Given the description of an element on the screen output the (x, y) to click on. 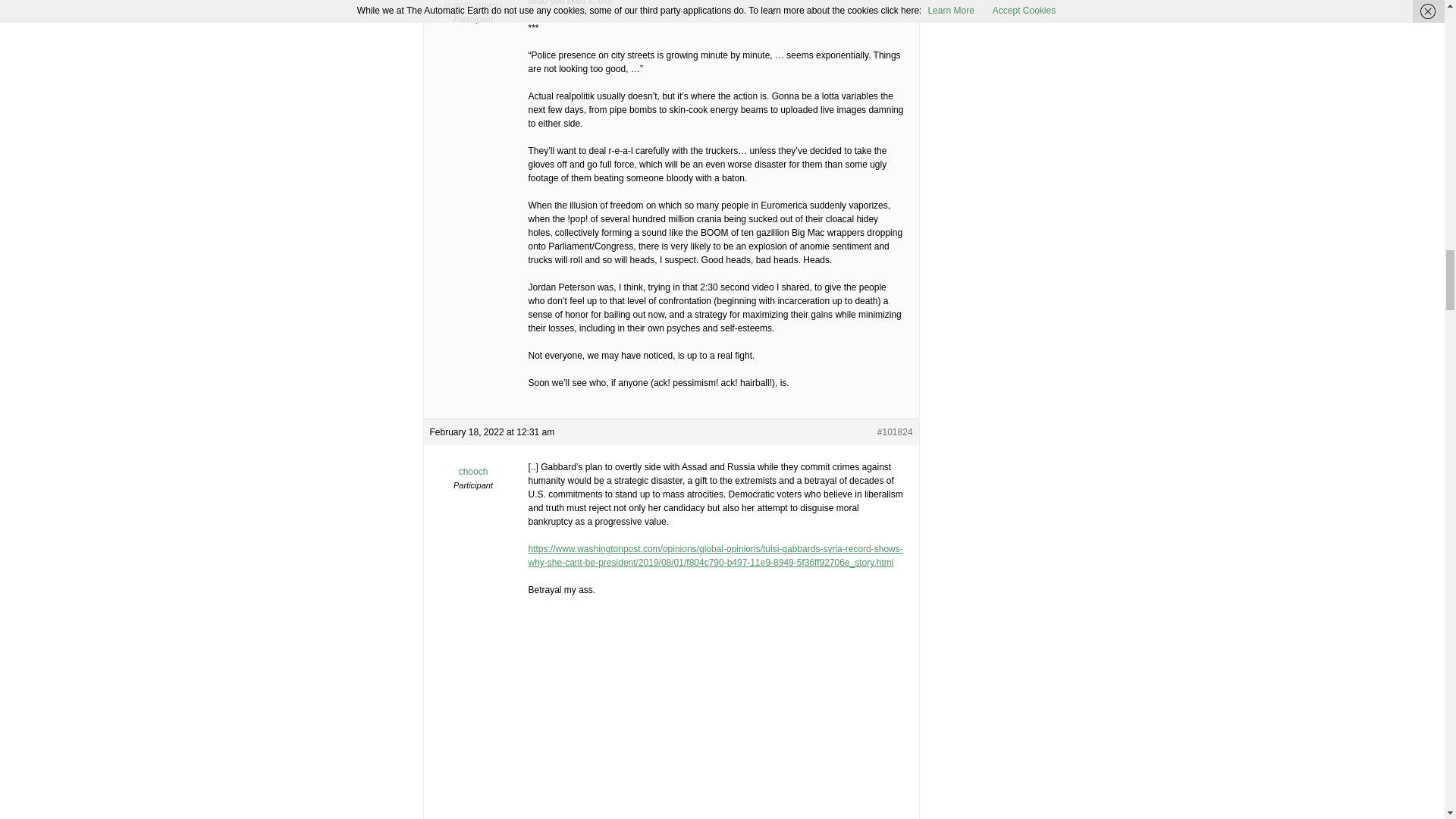
View chooch's profile (472, 465)
View boscohorowitz's profile (472, 6)
